Given the description of an element on the screen output the (x, y) to click on. 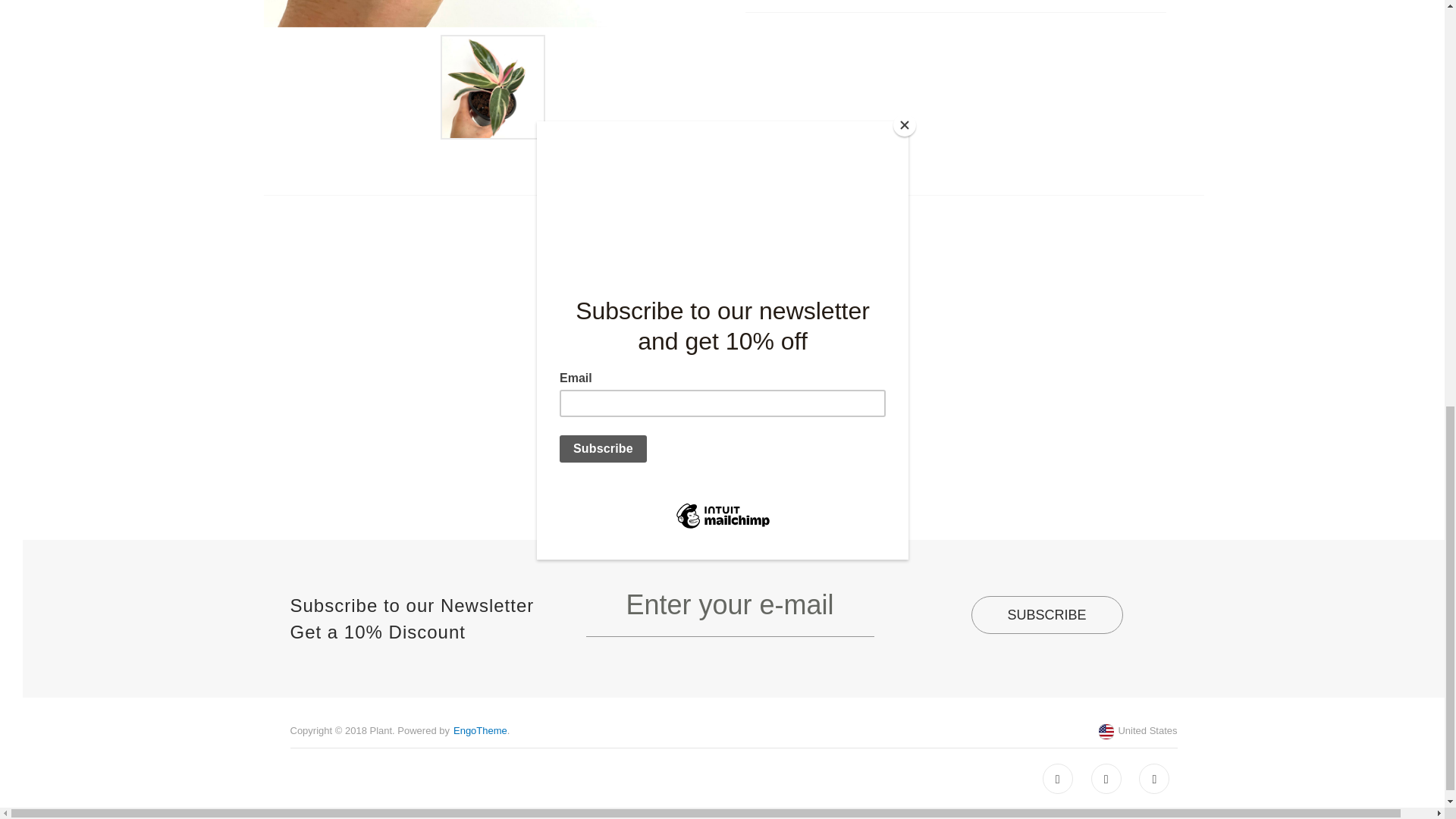
Monstera Adansonii 4" (732, 388)
Subscribe (1046, 614)
EngoTheme (479, 730)
Subscribe (1046, 614)
